Given the description of an element on the screen output the (x, y) to click on. 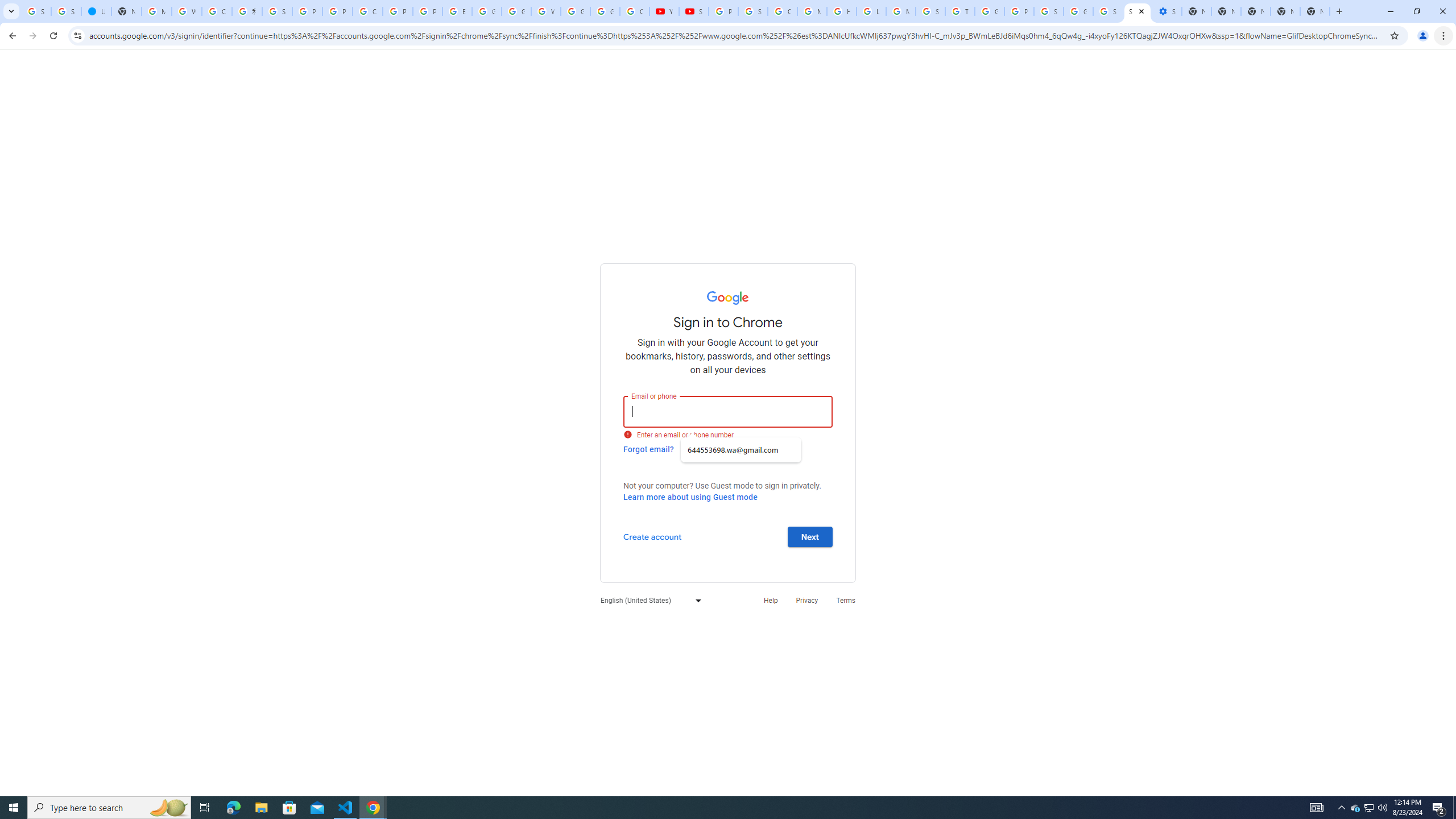
Create your Google Account (367, 11)
